Given the description of an element on the screen output the (x, y) to click on. 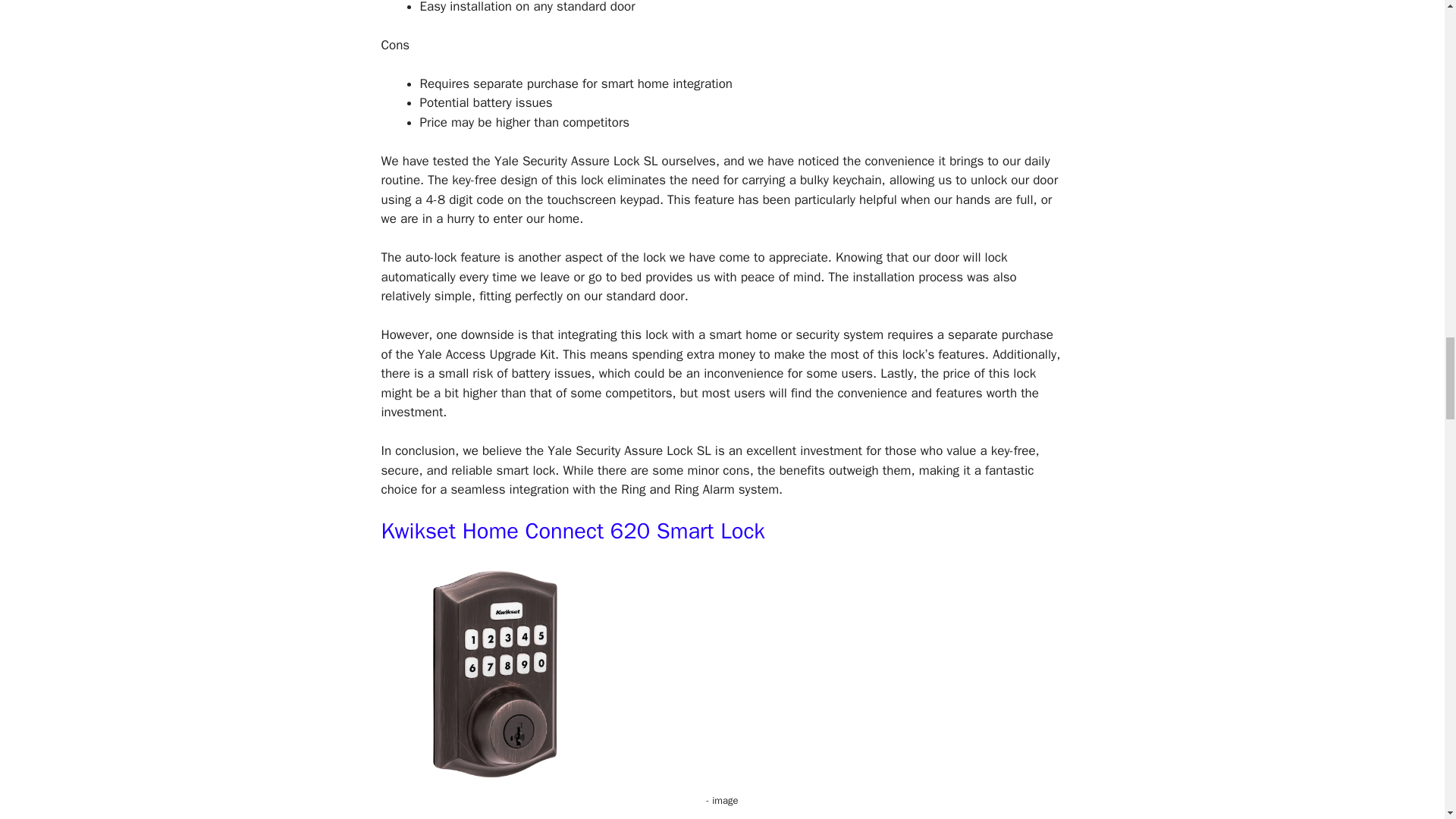
Smart Locks That Work With Ring July 26, 2024 (494, 673)
